Given the description of an element on the screen output the (x, y) to click on. 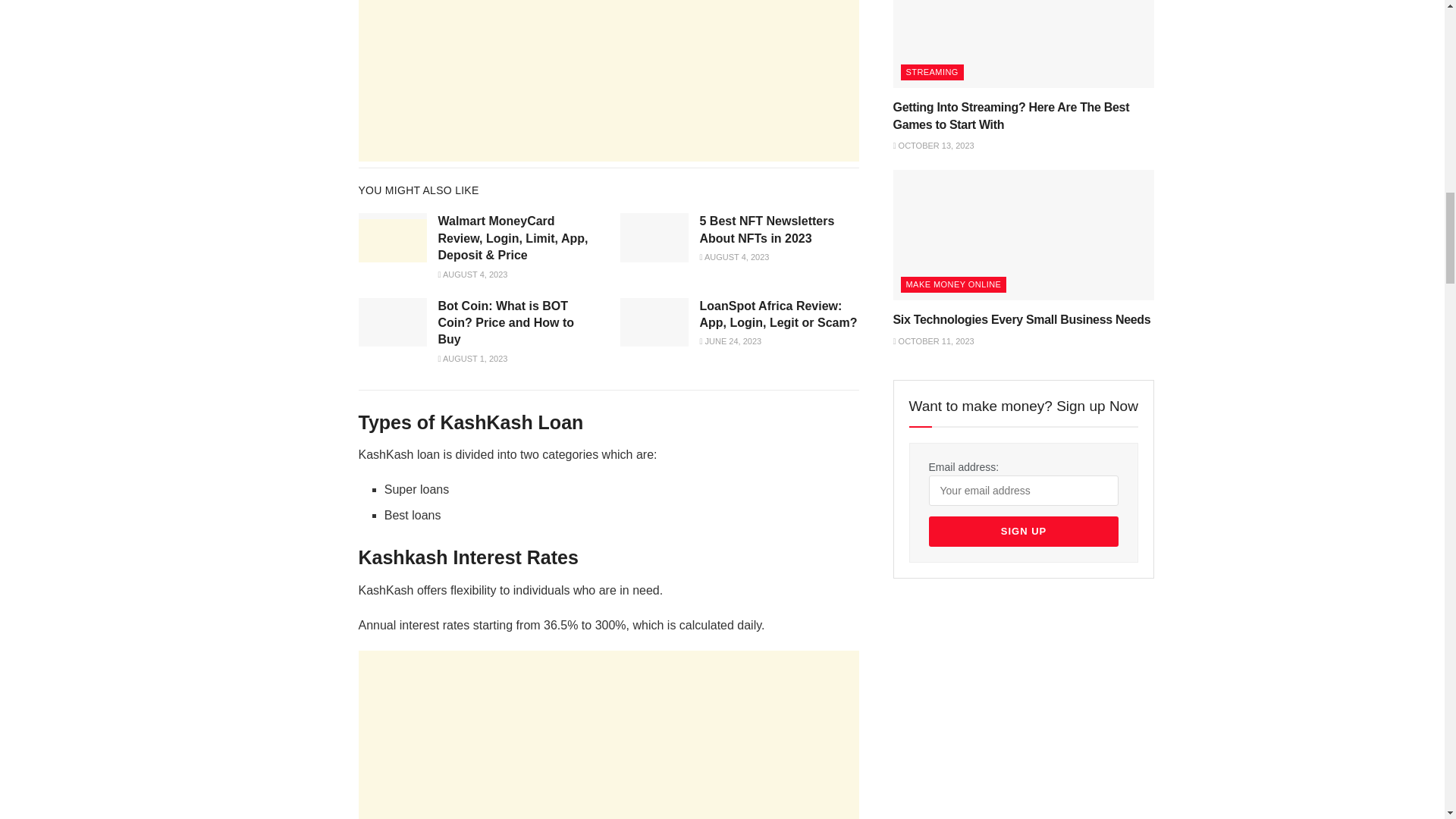
Sign up (1023, 531)
